Given the description of an element on the screen output the (x, y) to click on. 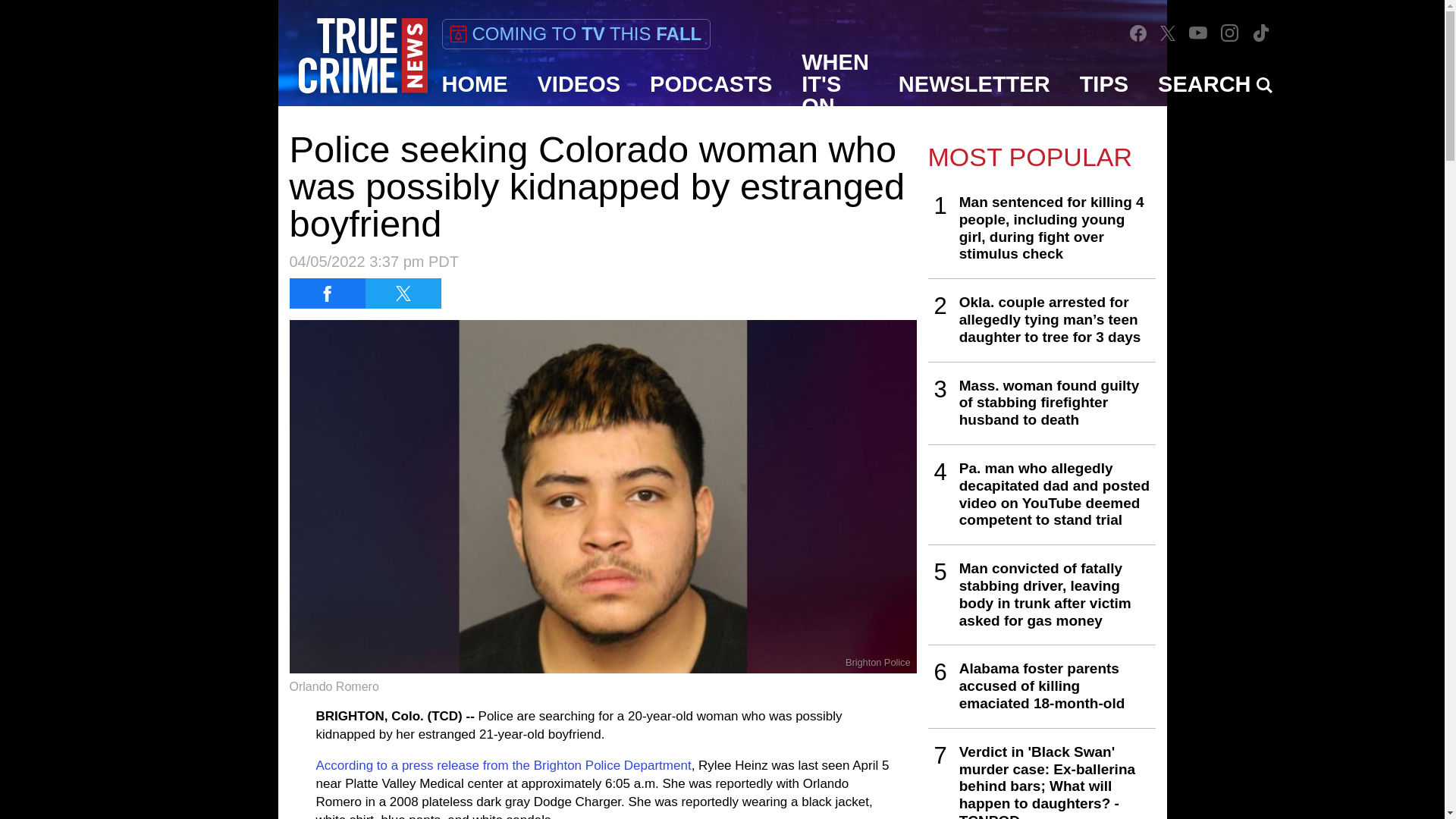
Instagram (1229, 32)
YouTube (1198, 32)
PODCASTS (710, 84)
Instagram (1230, 32)
True Crime News (363, 56)
TikTok (1260, 32)
Facebook (1137, 33)
COMING TO TV THIS FALL (575, 33)
True Crime News (363, 56)
HOME (475, 84)
YouTube (1198, 32)
Twitter (1167, 32)
NEWSLETTER (974, 84)
Twitter (1167, 32)
VIDEOS (579, 84)
